Given the description of an element on the screen output the (x, y) to click on. 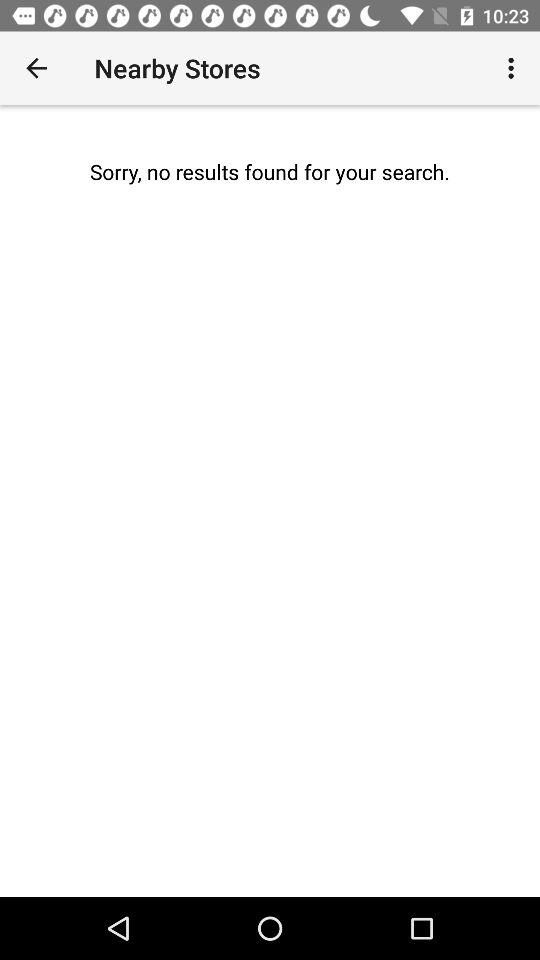
choose the icon at the top right corner (513, 67)
